Given the description of an element on the screen output the (x, y) to click on. 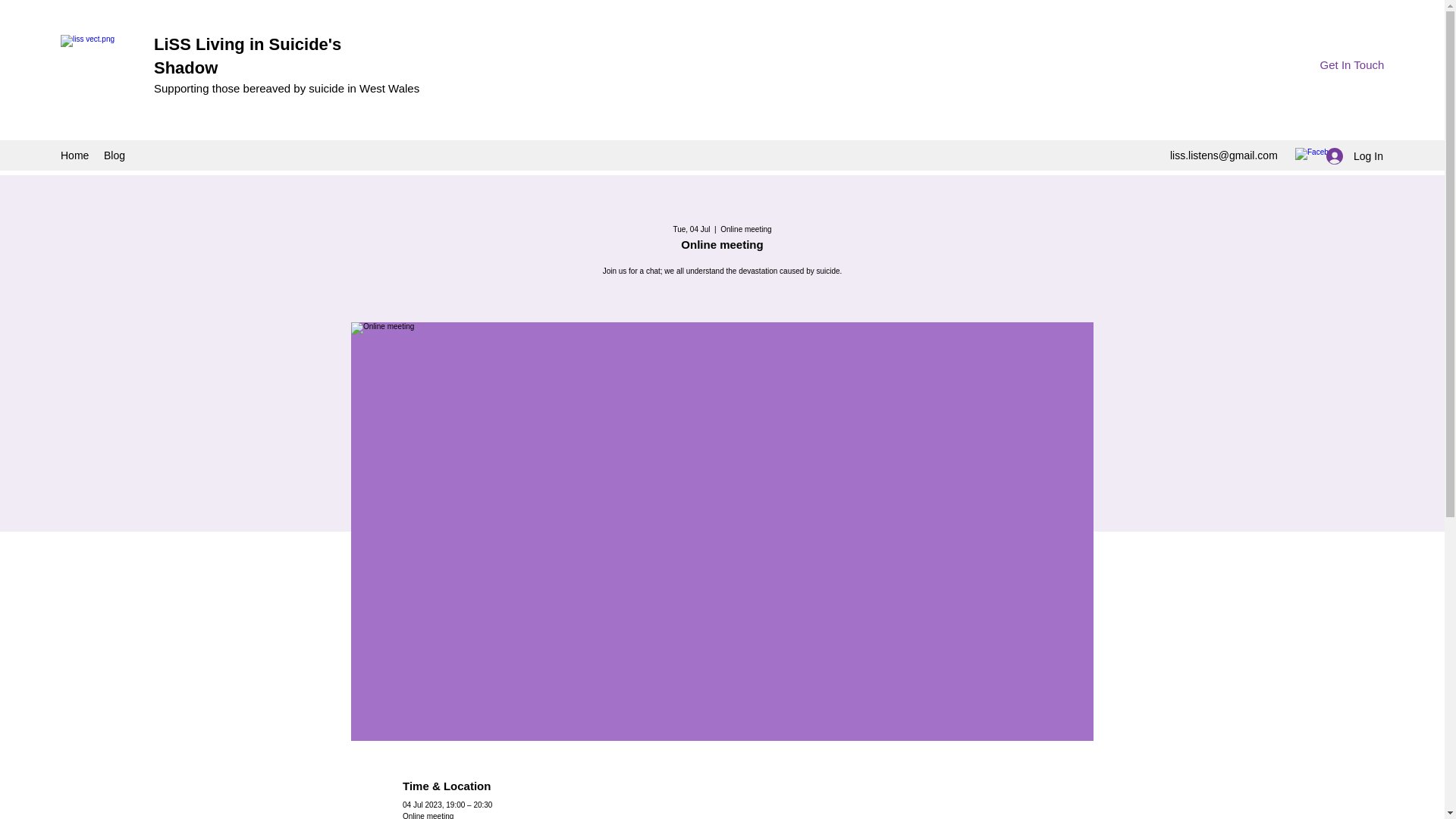
Blog (114, 155)
Home (74, 155)
Get In Touch (1351, 65)
LiSS Living in Suicide's Shadow (247, 55)
Log In (1350, 156)
